Given the description of an element on the screen output the (x, y) to click on. 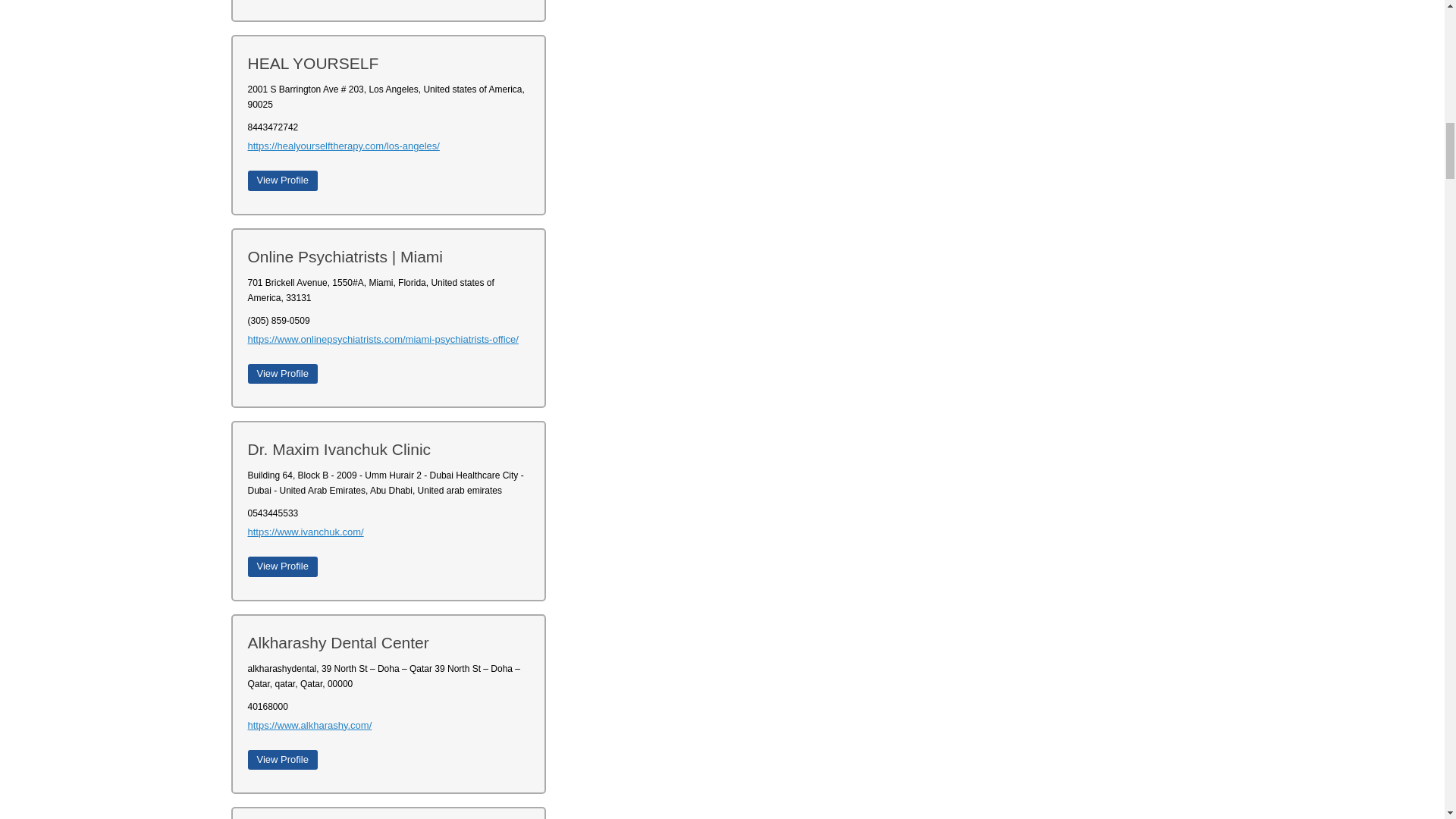
Click here to view profile (282, 566)
Click here to view profile (282, 180)
Click here to view profile (282, 373)
Click here to view profile (282, 759)
